Given the description of an element on the screen output the (x, y) to click on. 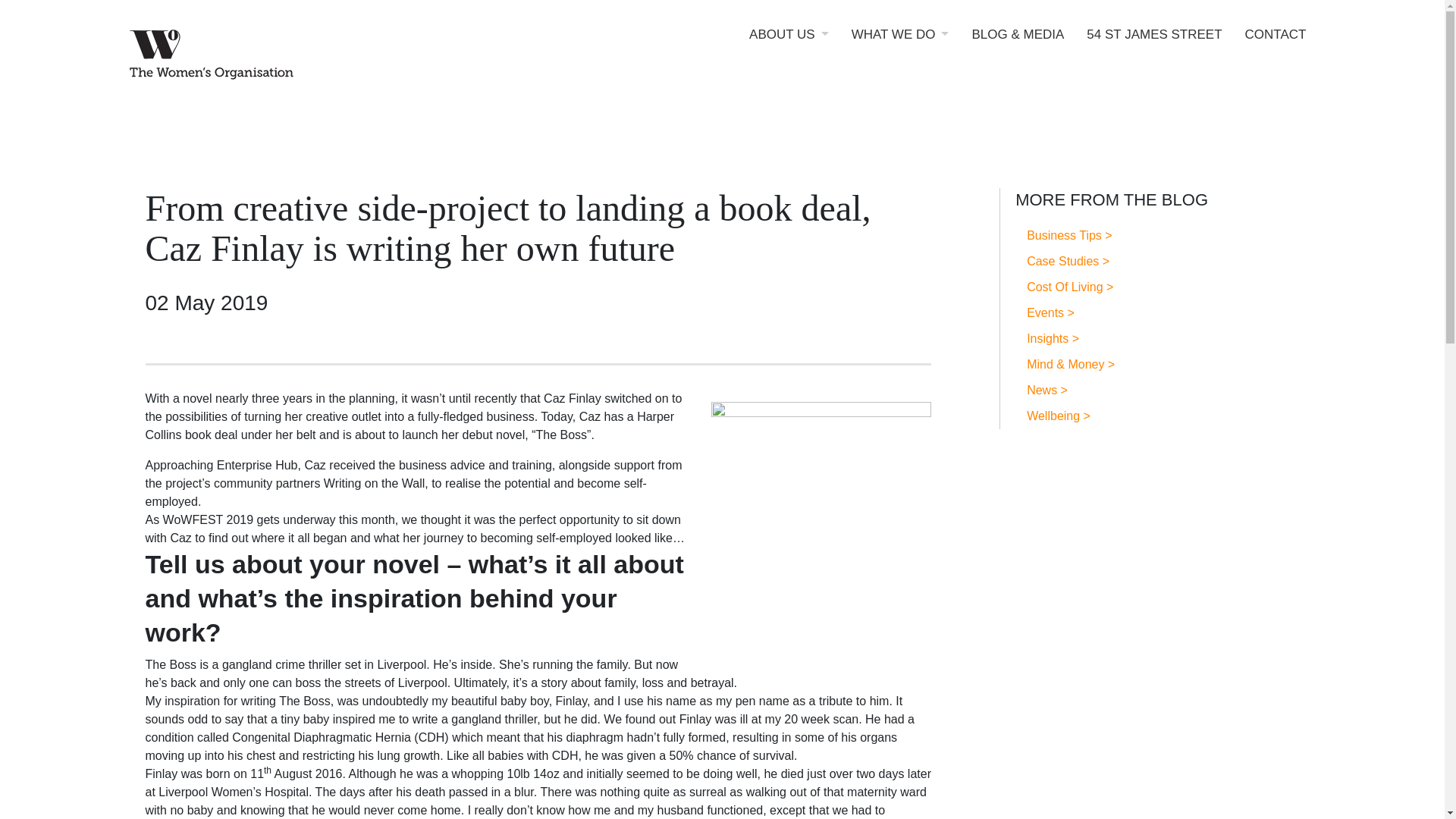
The Womens Organisation (267, 57)
About Us (788, 46)
WHAT WE DO (900, 46)
ABOUT US (788, 46)
54 ST JAMES STREET (1153, 46)
What We Do (900, 46)
CONTACT (1275, 46)
